Given the description of an element on the screen output the (x, y) to click on. 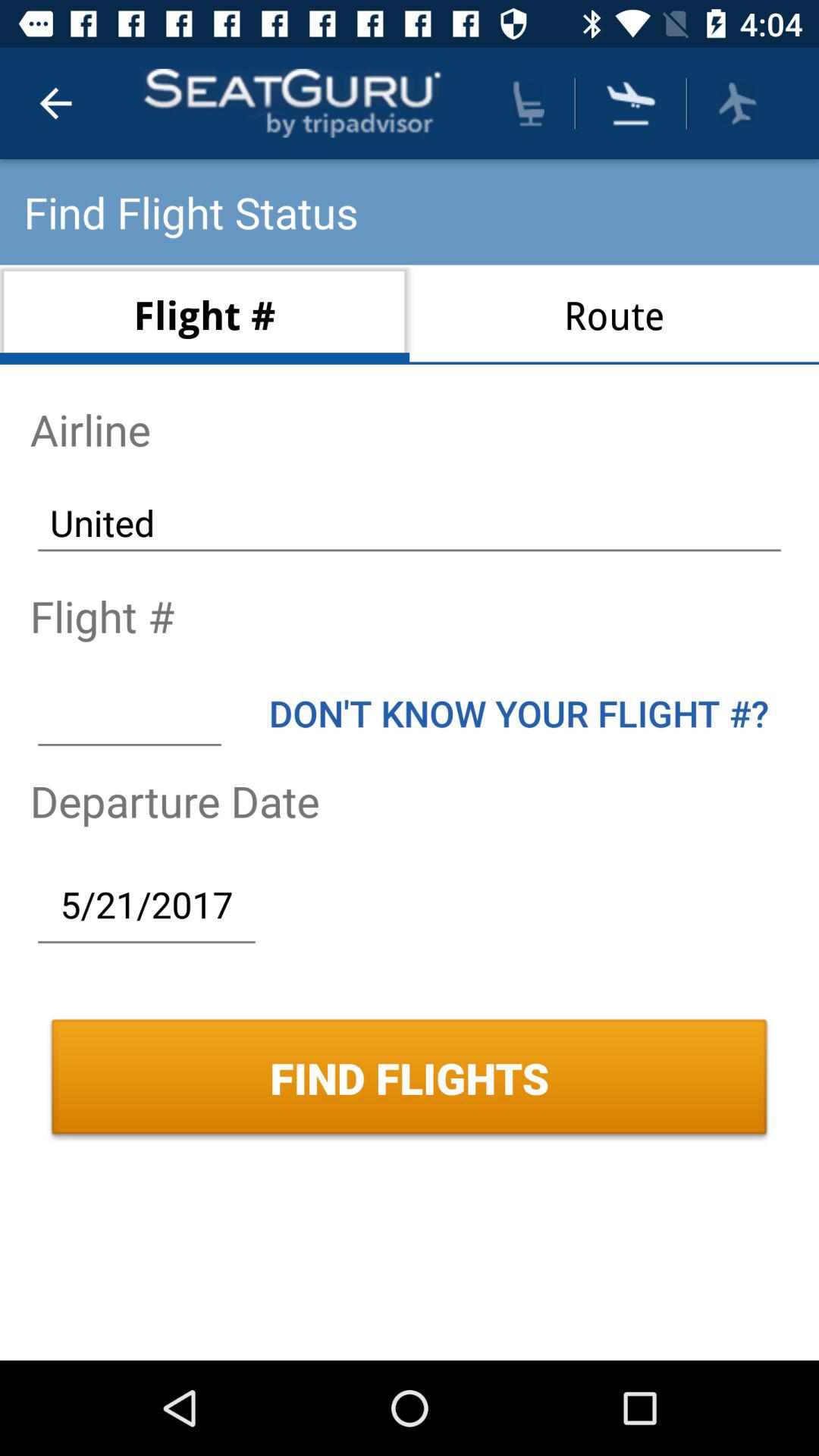
press icon above the united item (614, 314)
